Given the description of an element on the screen output the (x, y) to click on. 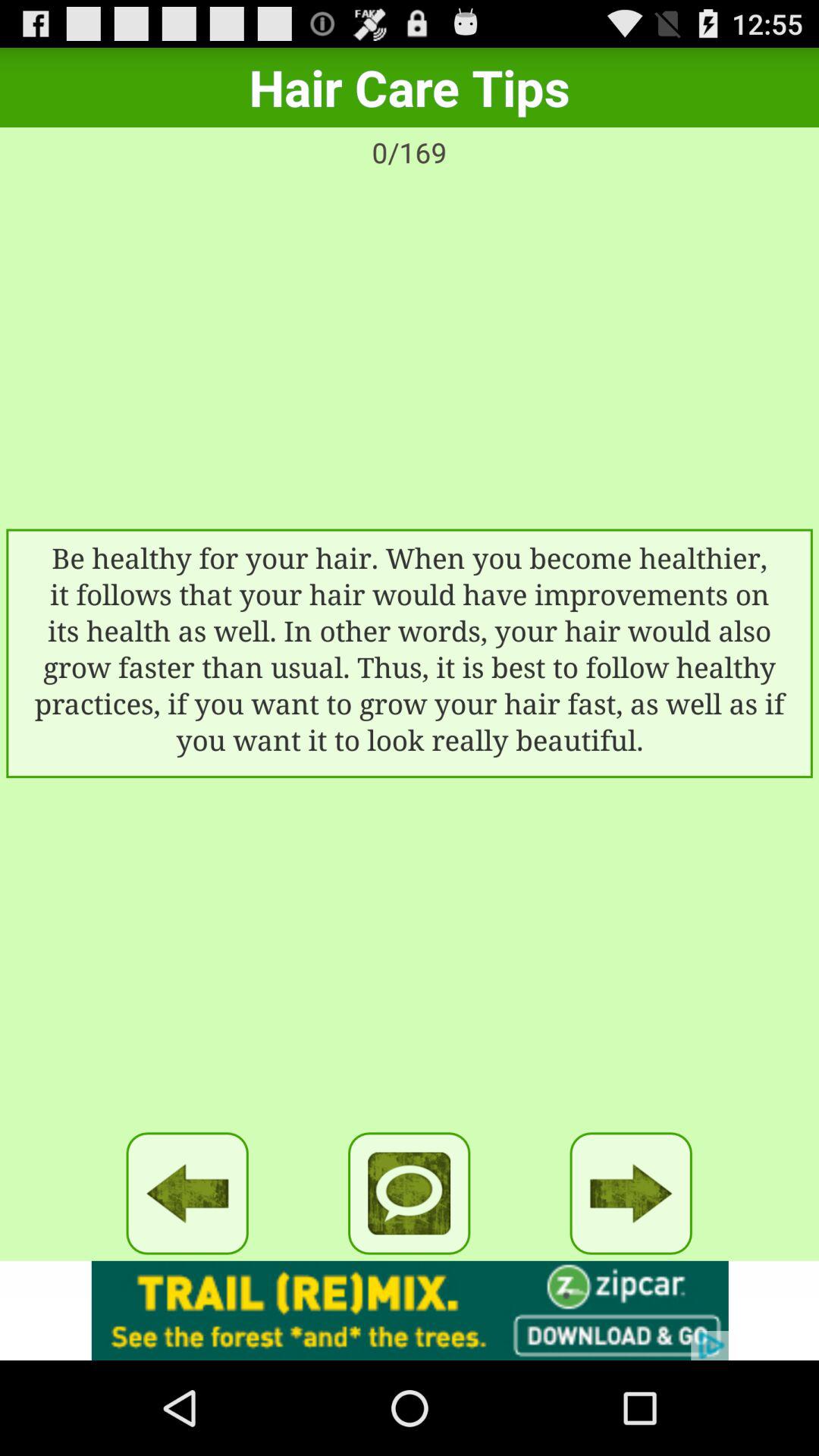
see advertisement (409, 1310)
